Given the description of an element on the screen output the (x, y) to click on. 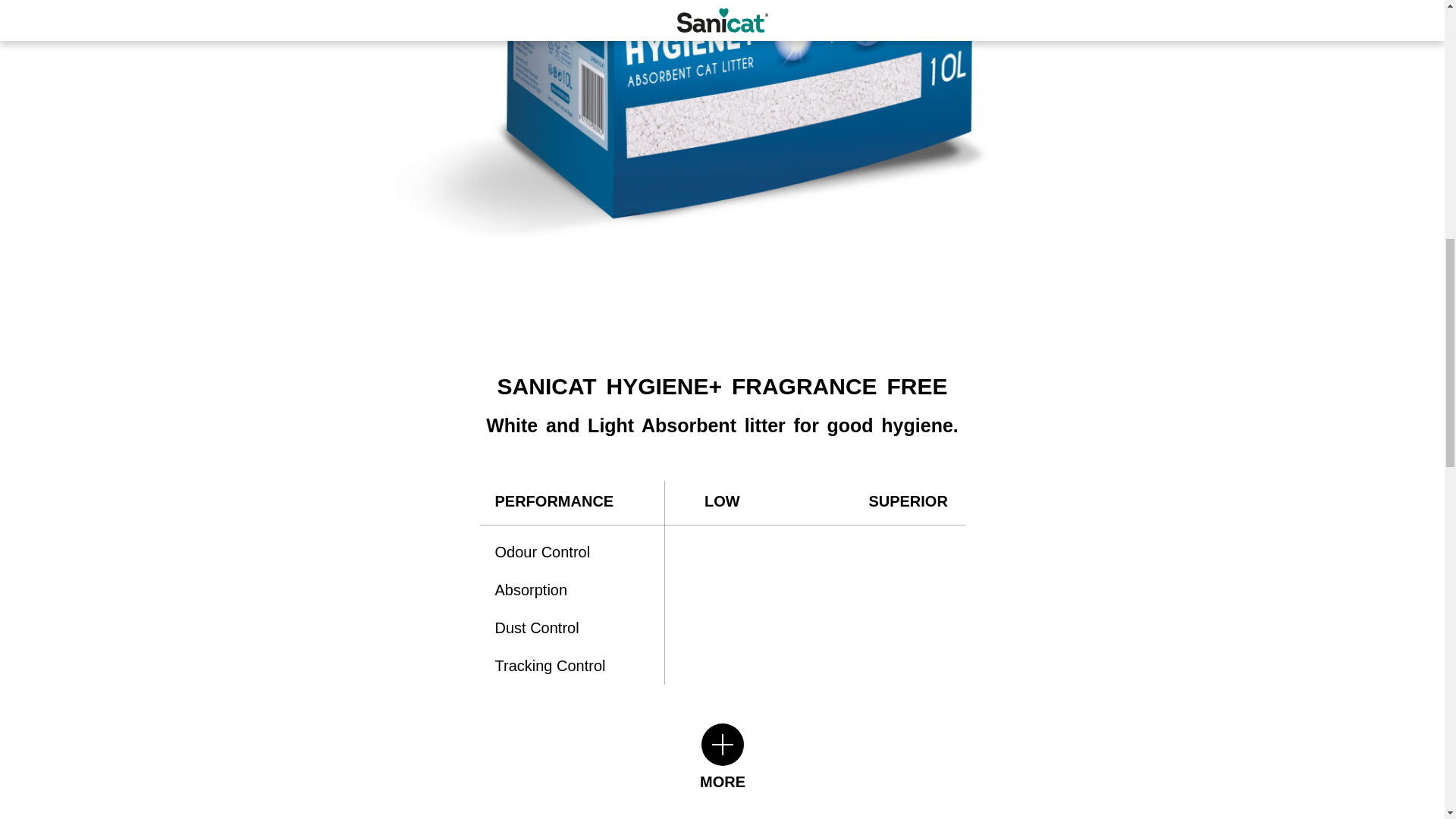
MORE (722, 756)
